Given the description of an element on the screen output the (x, y) to click on. 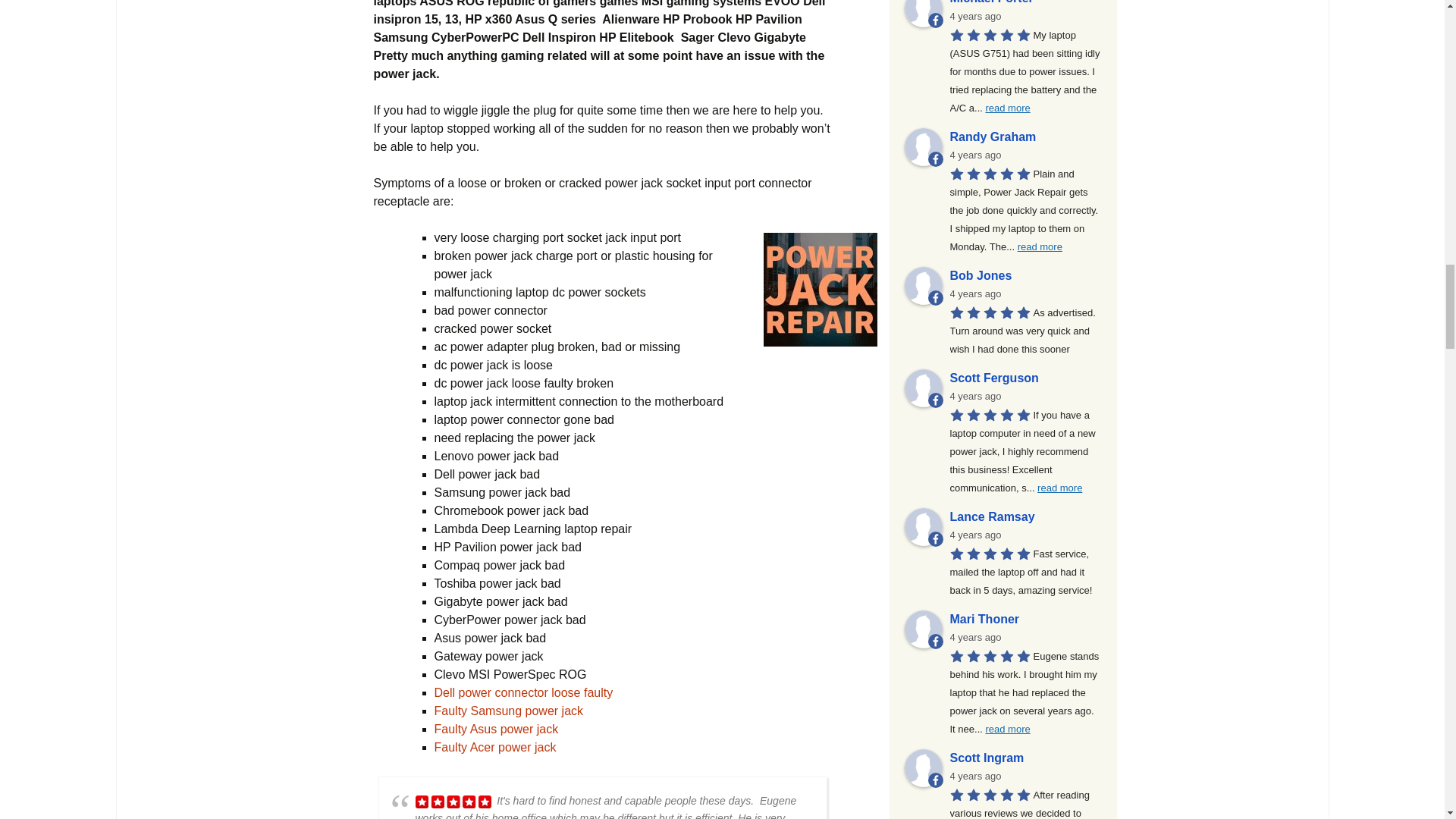
Samsung power jack repair replacement fix (508, 710)
Dell power connector loose faulty (522, 692)
Asus laptop power jack repair replacement fix (495, 728)
Faulty Asus power jack (495, 728)
Dell power jack repair replacement fix (522, 692)
Faulty Acer power jack (494, 747)
Faulty Samsung power jack (508, 710)
Acer power jack repair replacement fix (494, 747)
